Given the description of an element on the screen output the (x, y) to click on. 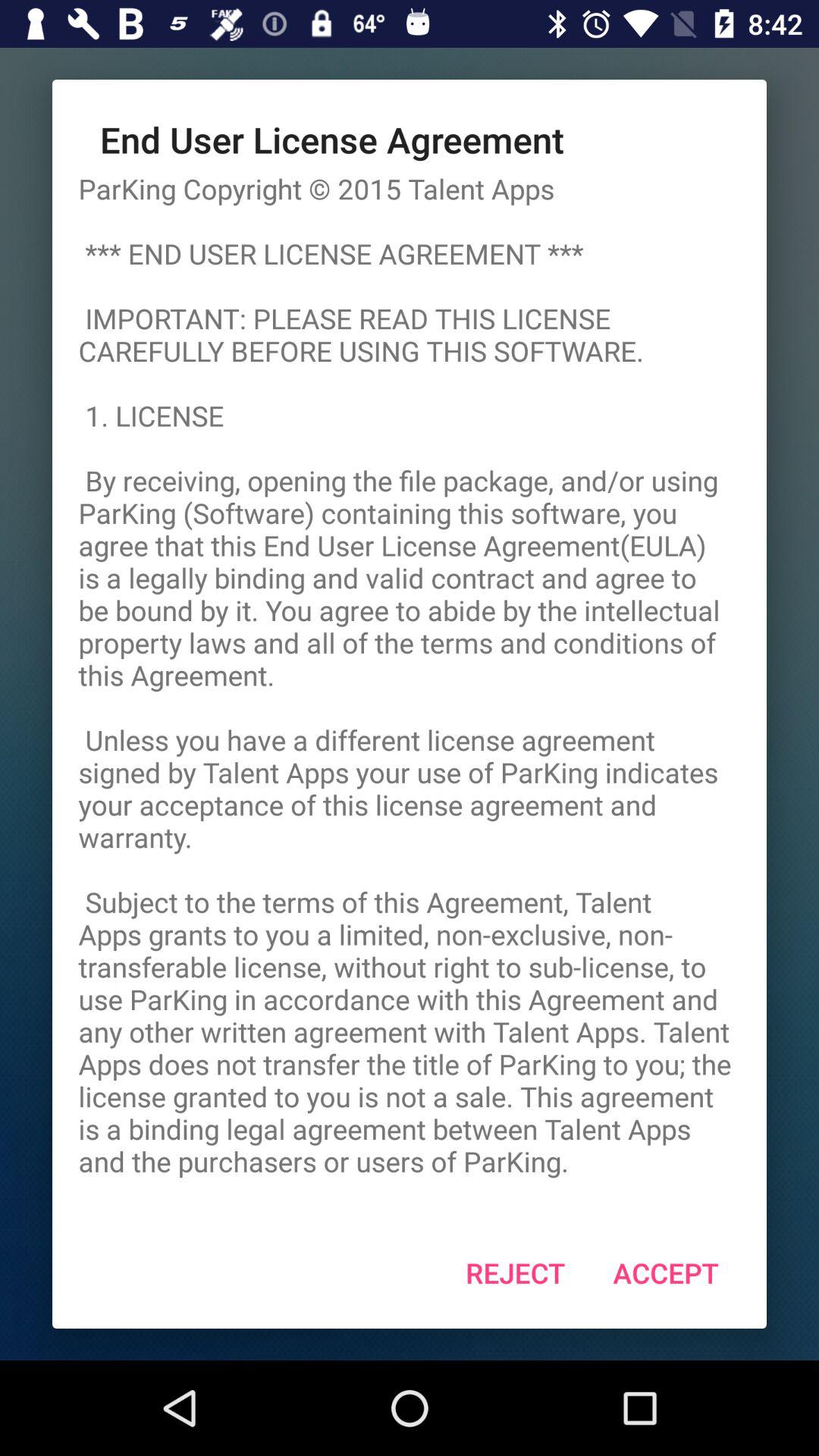
turn off the icon to the left of accept button (515, 1272)
